Given the description of an element on the screen output the (x, y) to click on. 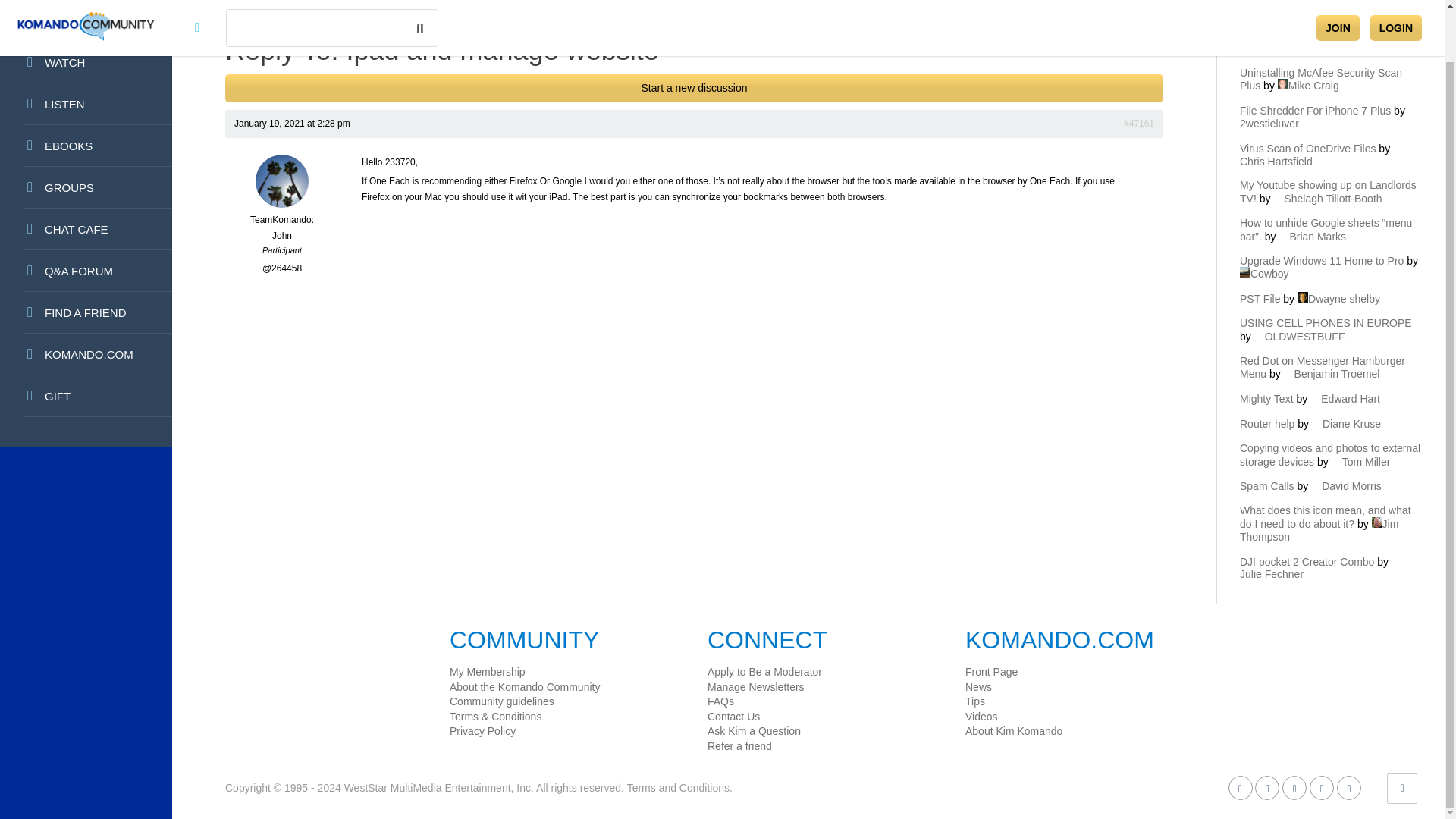
View Diane Kruse's profile (1345, 423)
View OLDWESTBUFF's profile (1299, 336)
View Chris Hartsfield's profile (1321, 154)
EBOOKS (85, 146)
View 2westieluver's profile (1329, 116)
CHAT CAFE (85, 229)
View Benjamin Troemel's profile (1332, 373)
View Edward Hart's profile (1345, 398)
View TeamKomando:John's profile (282, 219)
FIND A FRIEND (85, 312)
